Given the description of an element on the screen output the (x, y) to click on. 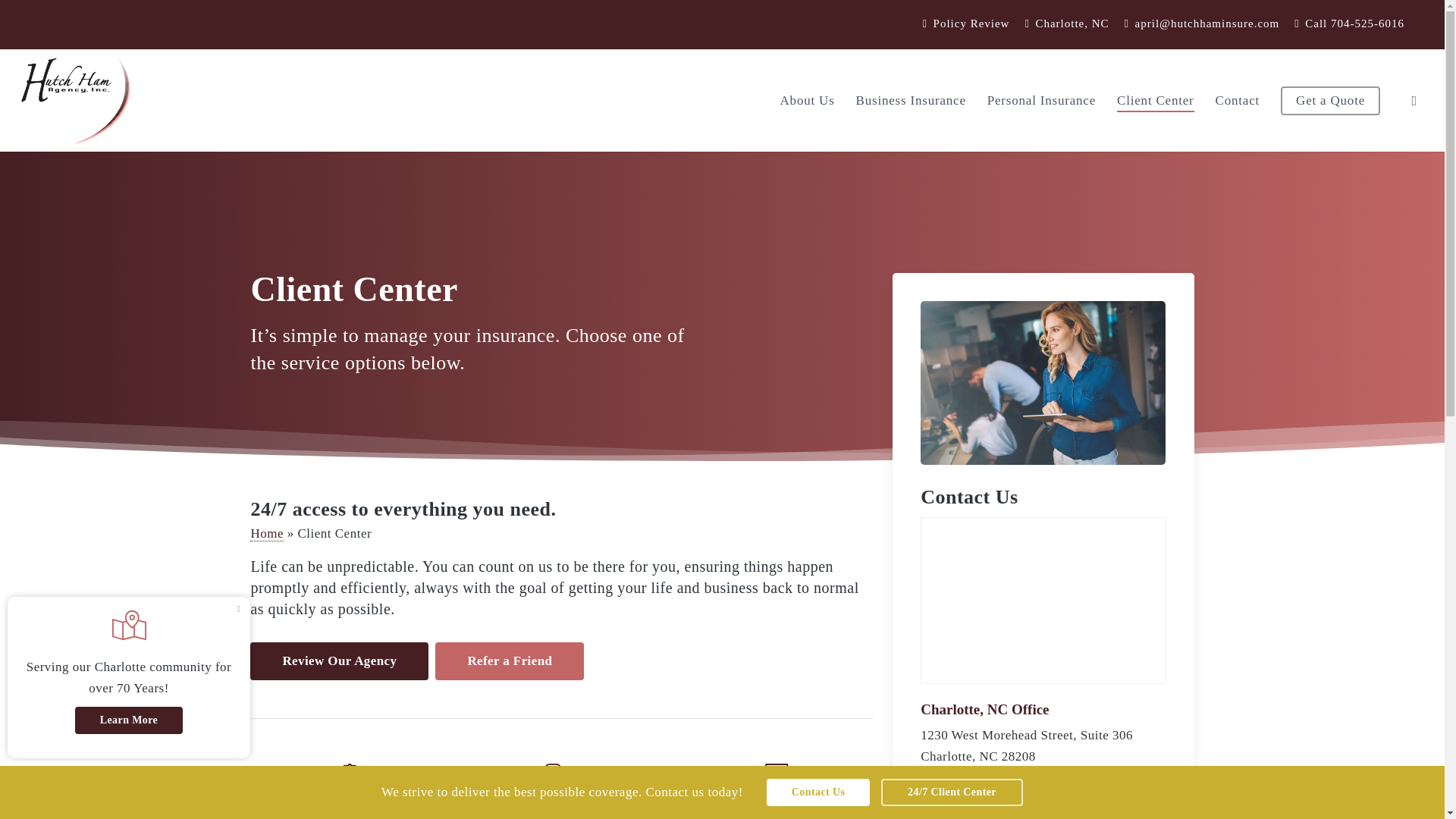
Get a Quote (1330, 100)
Review Our Agency (339, 661)
Refer a Friend (509, 661)
Call 704-525-6016 (1349, 23)
Charlotte, NC (1066, 23)
Home (266, 533)
Business Insurance (911, 100)
Personal Insurance (1041, 100)
Client Center (1154, 100)
About Us (807, 100)
Contact (1237, 100)
Policy Review (966, 23)
Power Panel: About Us (128, 677)
